Given the description of an element on the screen output the (x, y) to click on. 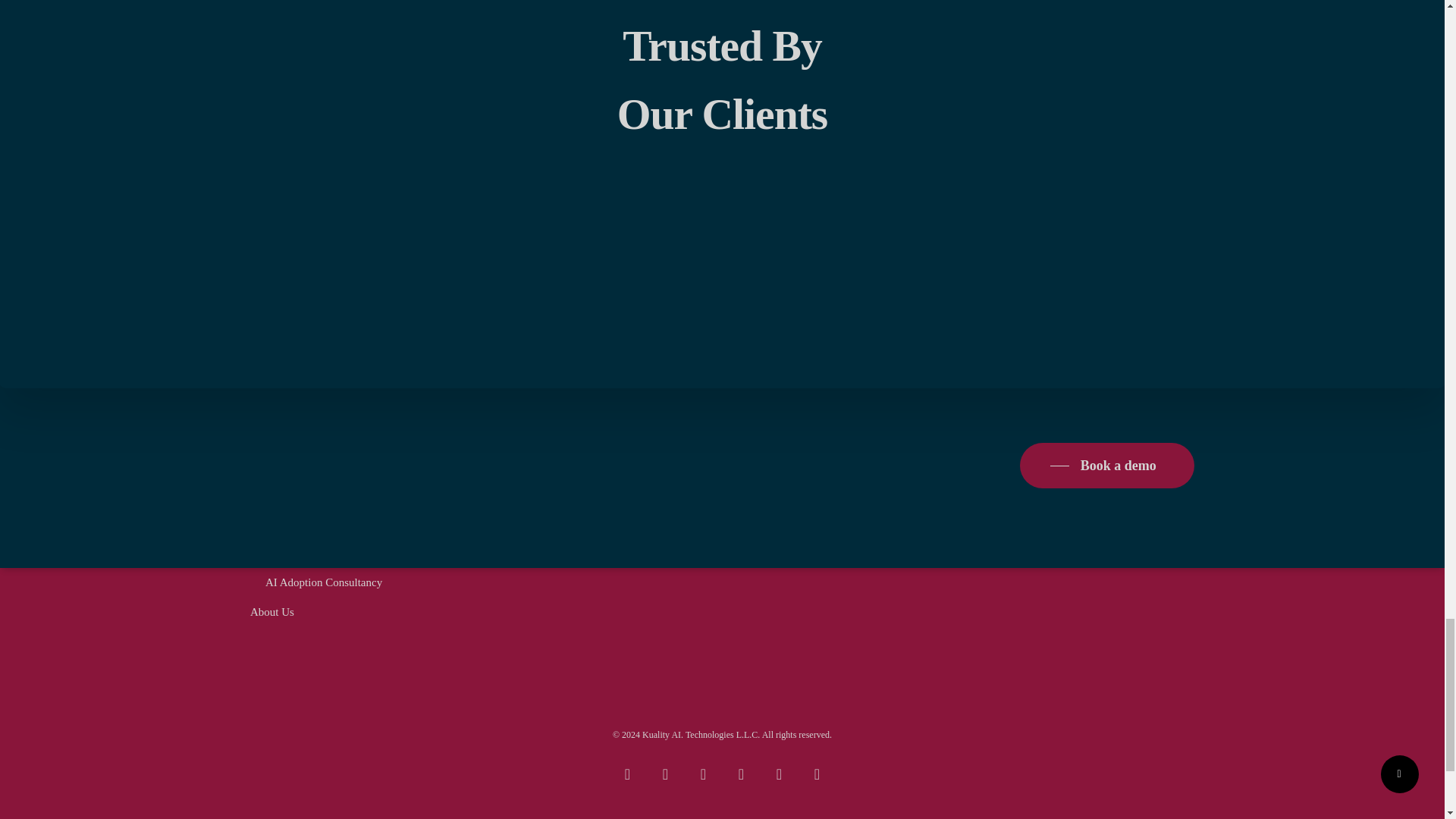
Book a demo (1106, 465)
